Given the description of an element on the screen output the (x, y) to click on. 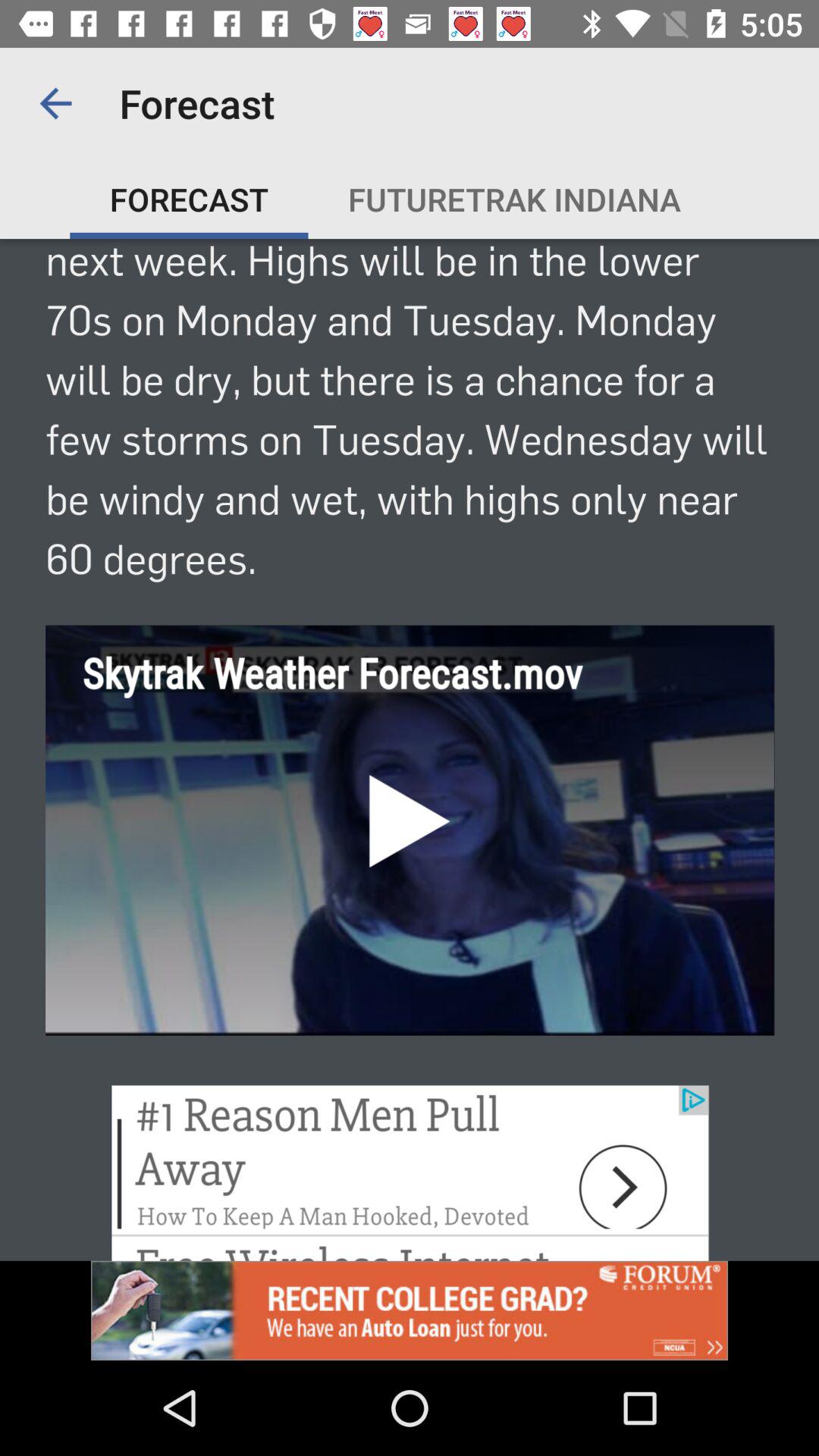
click on advertisement (409, 1310)
